Given the description of an element on the screen output the (x, y) to click on. 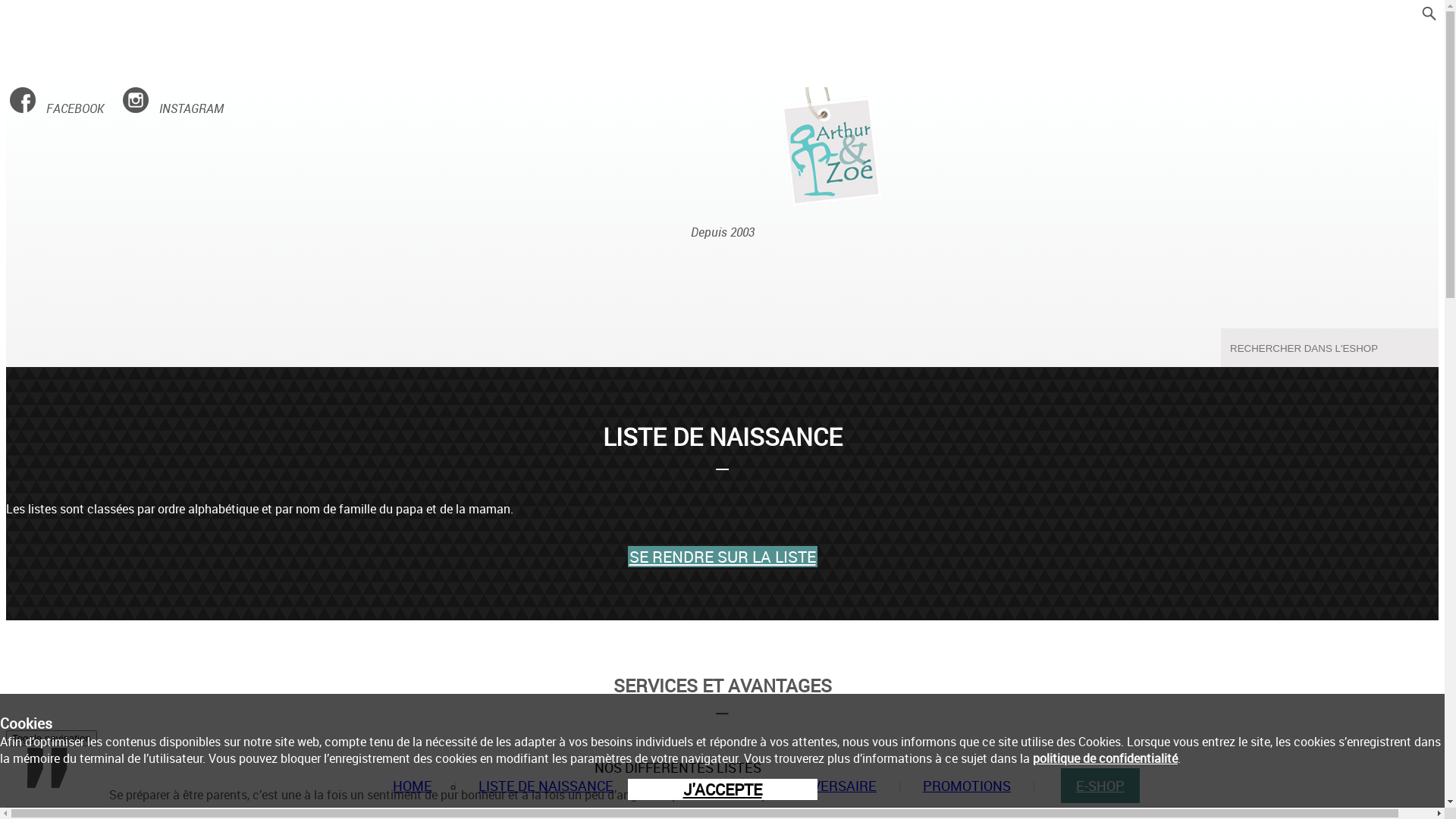
SE RENDRE SUR LA LISTE Element type: text (722, 556)
LISTE DE NAISSANCE Element type: text (545, 785)
INSTAGRAM Element type: text (173, 108)
FACEBOOK Element type: text (56, 108)
Toggle navigation Element type: text (51, 738)
HOME Element type: text (412, 785)
J'ACCEPTE Element type: text (722, 789)
PROMOTIONS Element type: text (966, 785)
E-SHOP Element type: text (1099, 785)
